Given the description of an element on the screen output the (x, y) to click on. 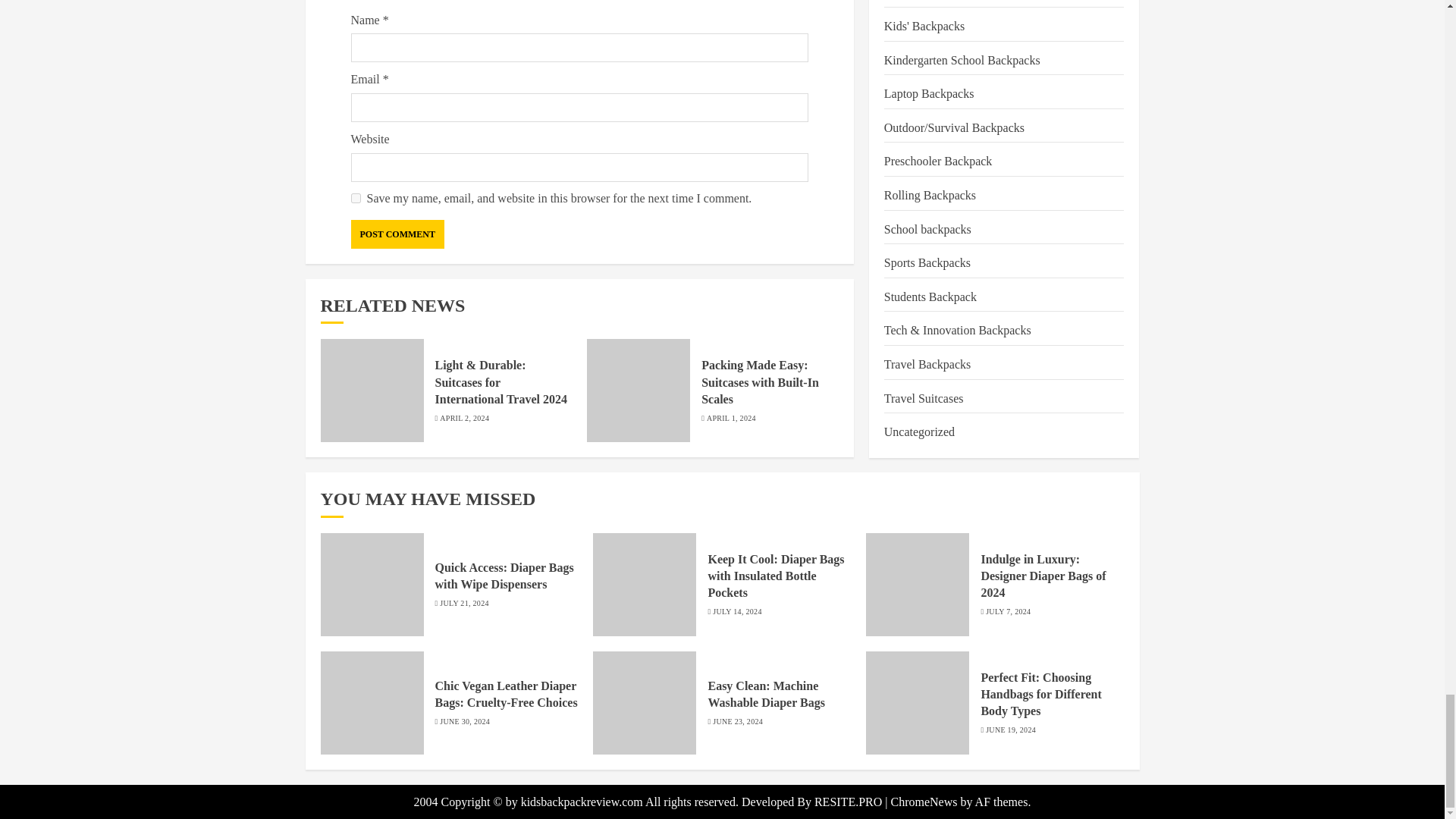
yes (354, 198)
Post Comment (397, 234)
